Given the description of an element on the screen output the (x, y) to click on. 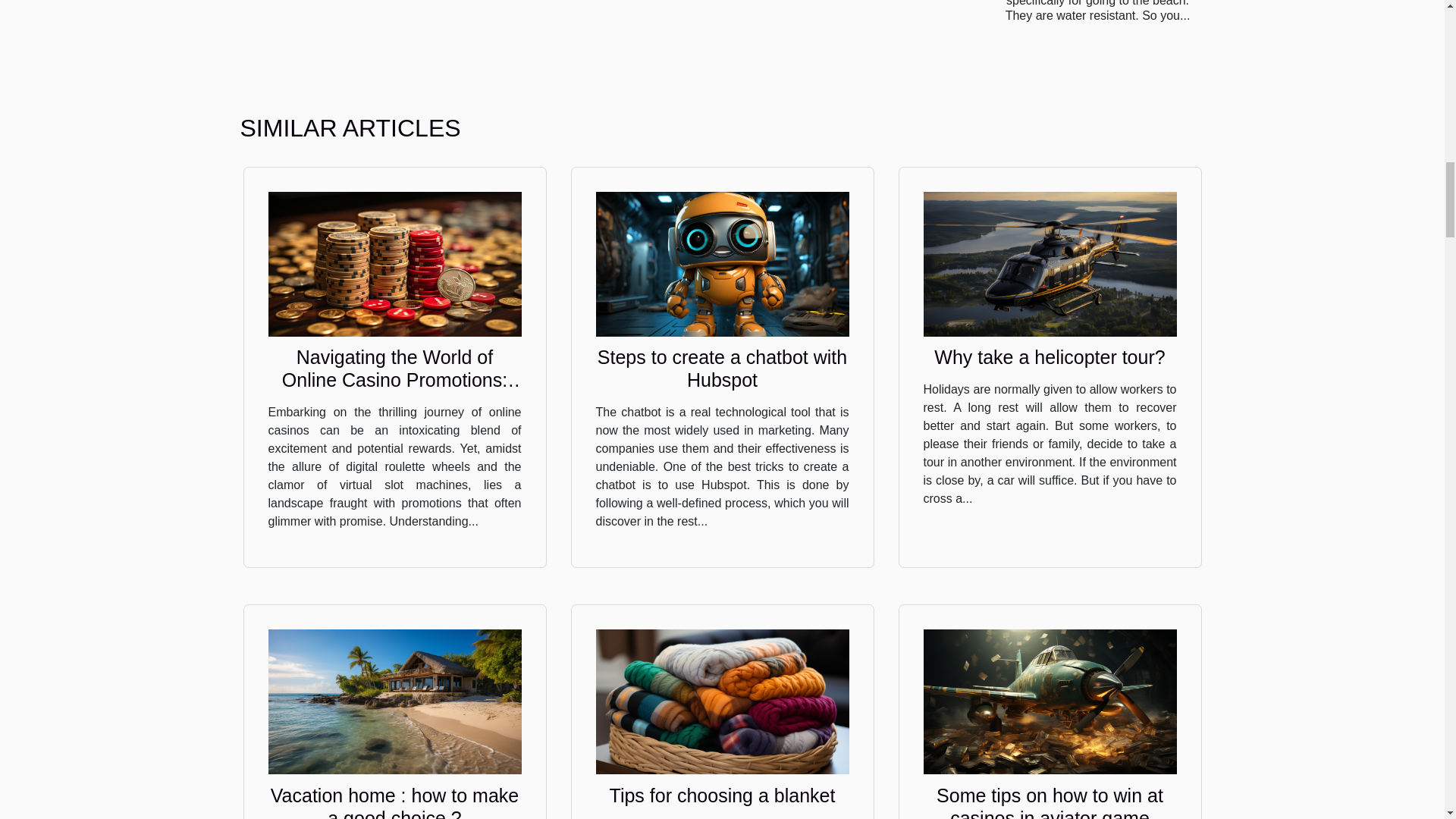
Why take a helicopter tour? (1049, 263)
Vacation home : how to make a good choice ? (394, 801)
Tips for choosing a blanket (722, 794)
Steps to create a chatbot with Hubspot (721, 368)
Why take a helicopter tour? (1049, 356)
Steps to create a chatbot with Hubspot (721, 368)
Some tips on how to win at casinos in aviator game (1049, 801)
Why take a helicopter tour? (1049, 356)
Steps to create a chatbot with Hubspot (721, 263)
Vacation home : how to make a good choice ? (394, 700)
